Given the description of an element on the screen output the (x, y) to click on. 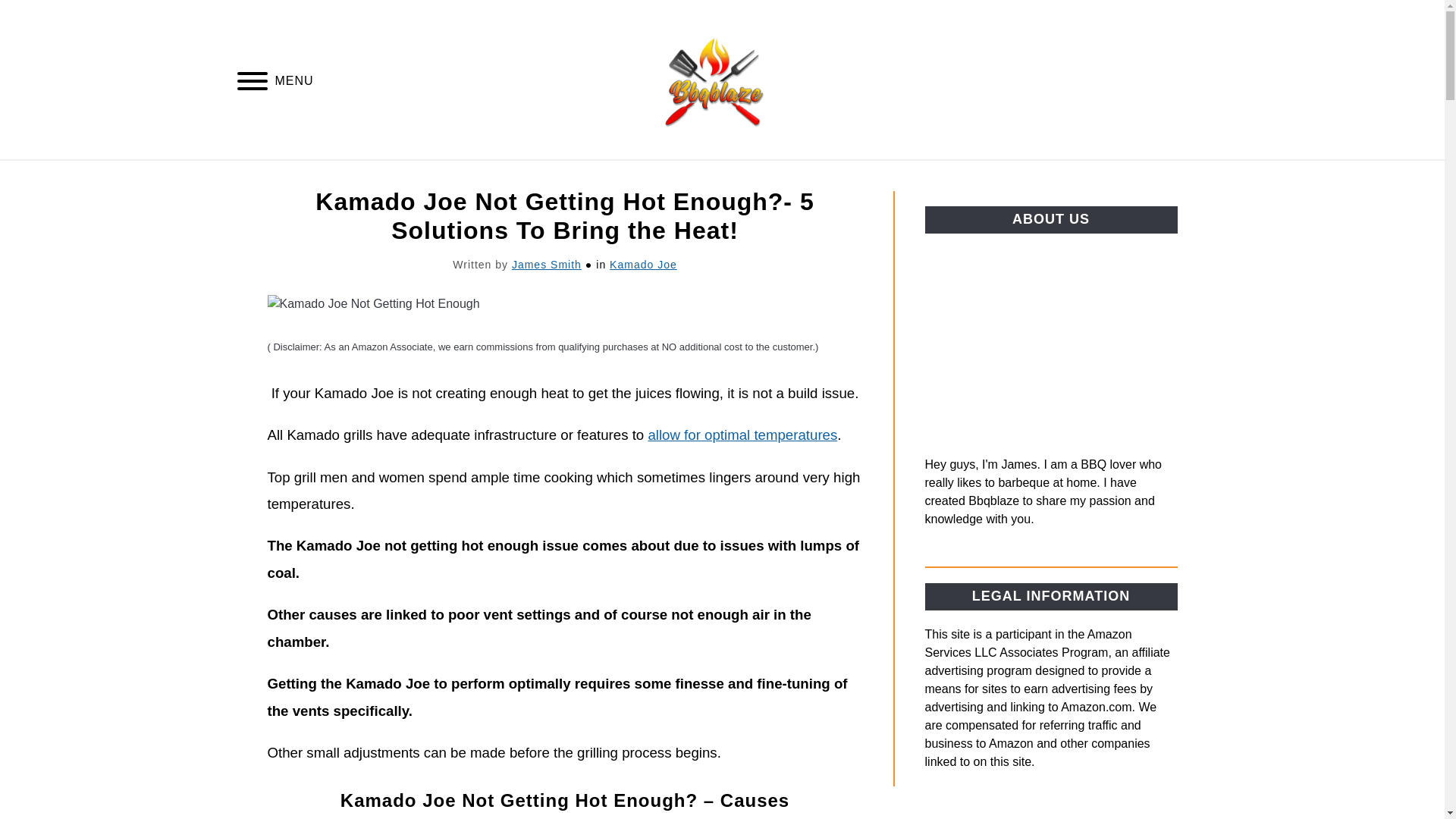
BBQ SMOKING (619, 177)
BBQ GUIDE (838, 177)
Search (1203, 79)
Kamado Joe (643, 264)
allow for optimal temperatures (742, 434)
MENU (251, 83)
GRILLING (734, 177)
James Smith (546, 264)
